Given the description of an element on the screen output the (x, y) to click on. 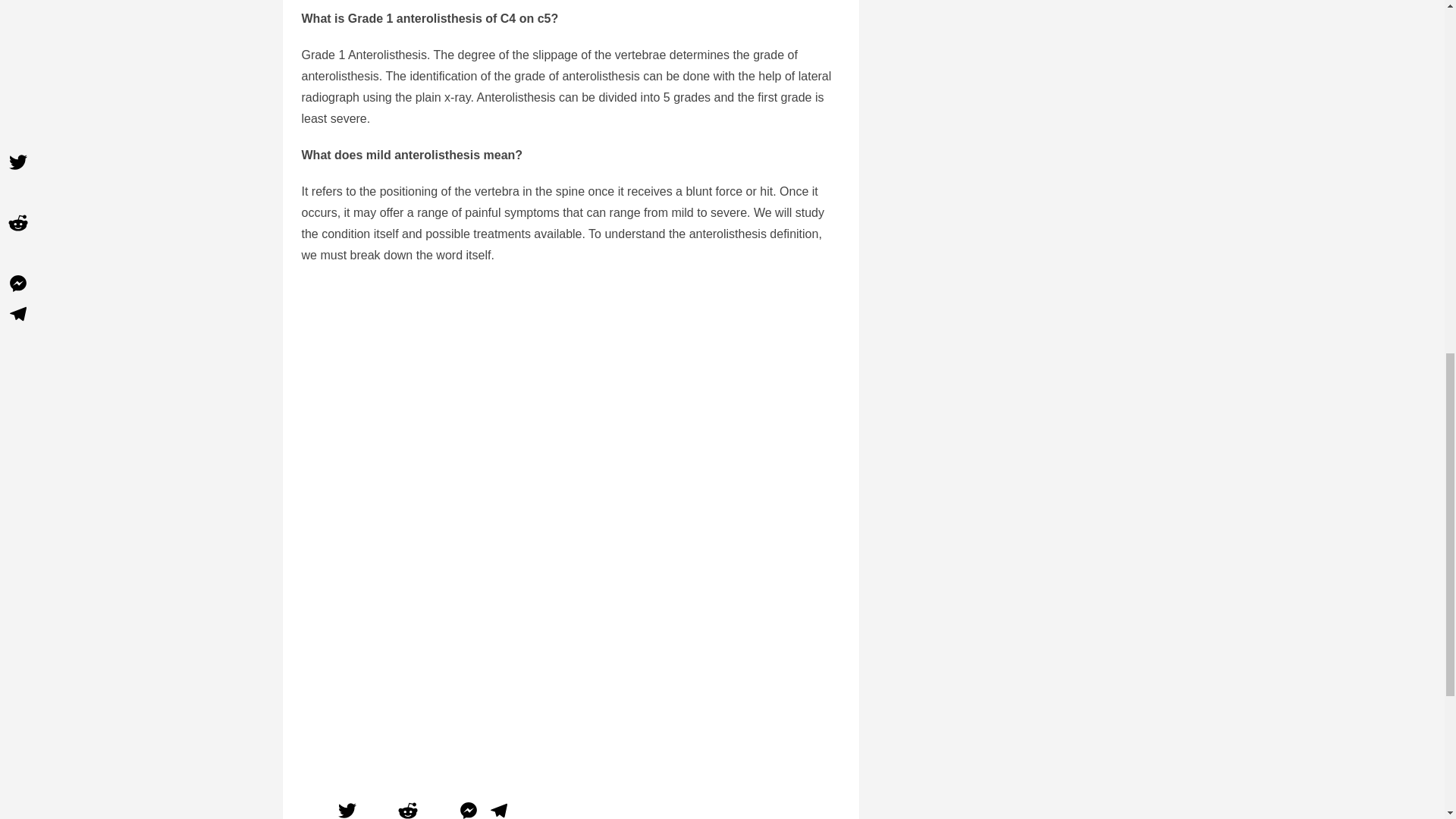
Facebook (316, 808)
Messenger (467, 808)
WhatsApp (437, 808)
Reddit (408, 808)
Telegram (498, 808)
Telegram (498, 808)
Reddit (408, 808)
Email (377, 808)
WhatsApp (437, 808)
Email (377, 808)
